Given the description of an element on the screen output the (x, y) to click on. 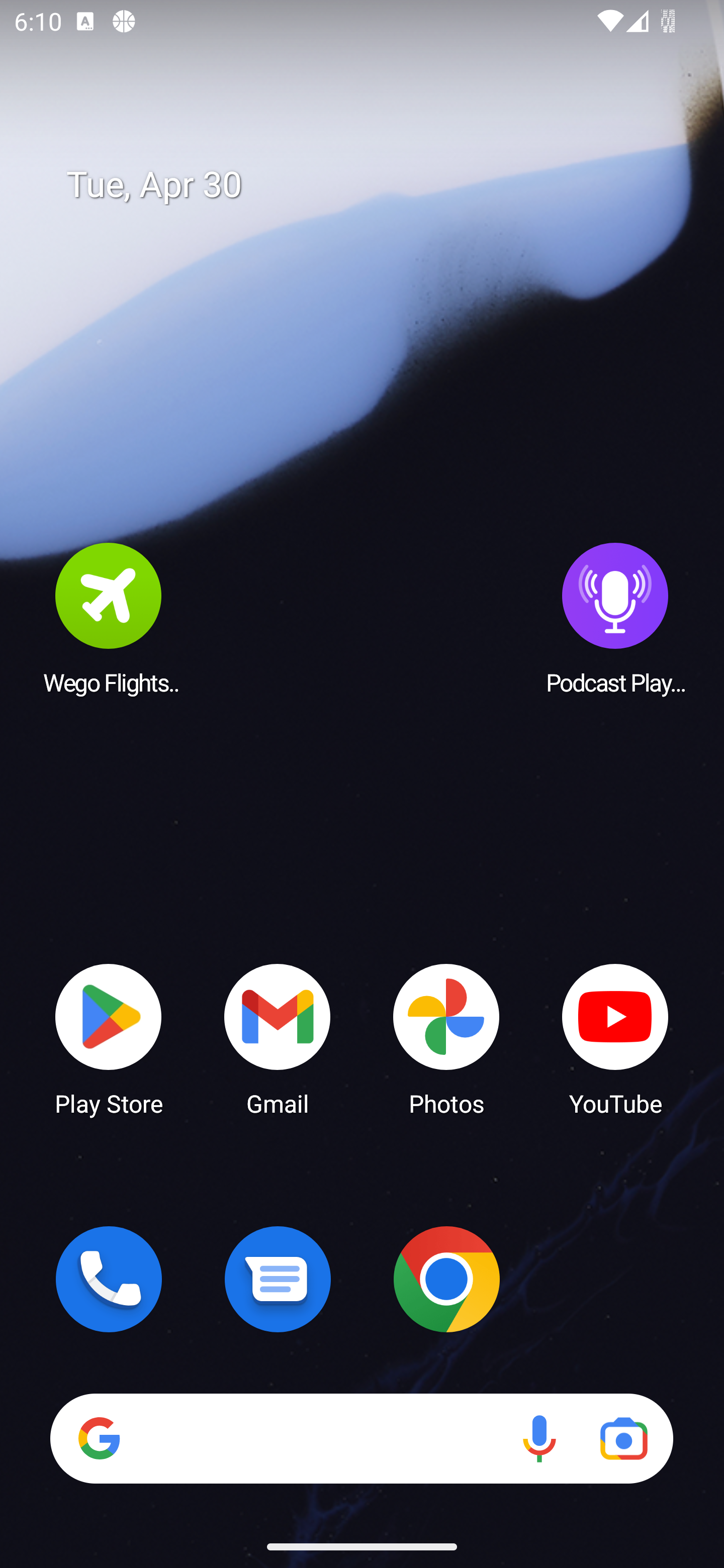
Tue, Apr 30 (375, 184)
Wego Flights & Hotels (108, 617)
Podcast Player (615, 617)
Play Store (108, 1038)
Gmail (277, 1038)
Photos (445, 1038)
YouTube (615, 1038)
Phone (108, 1279)
Messages (277, 1279)
Chrome (446, 1279)
Voice search (539, 1438)
Google Lens (623, 1438)
